Given the description of an element on the screen output the (x, y) to click on. 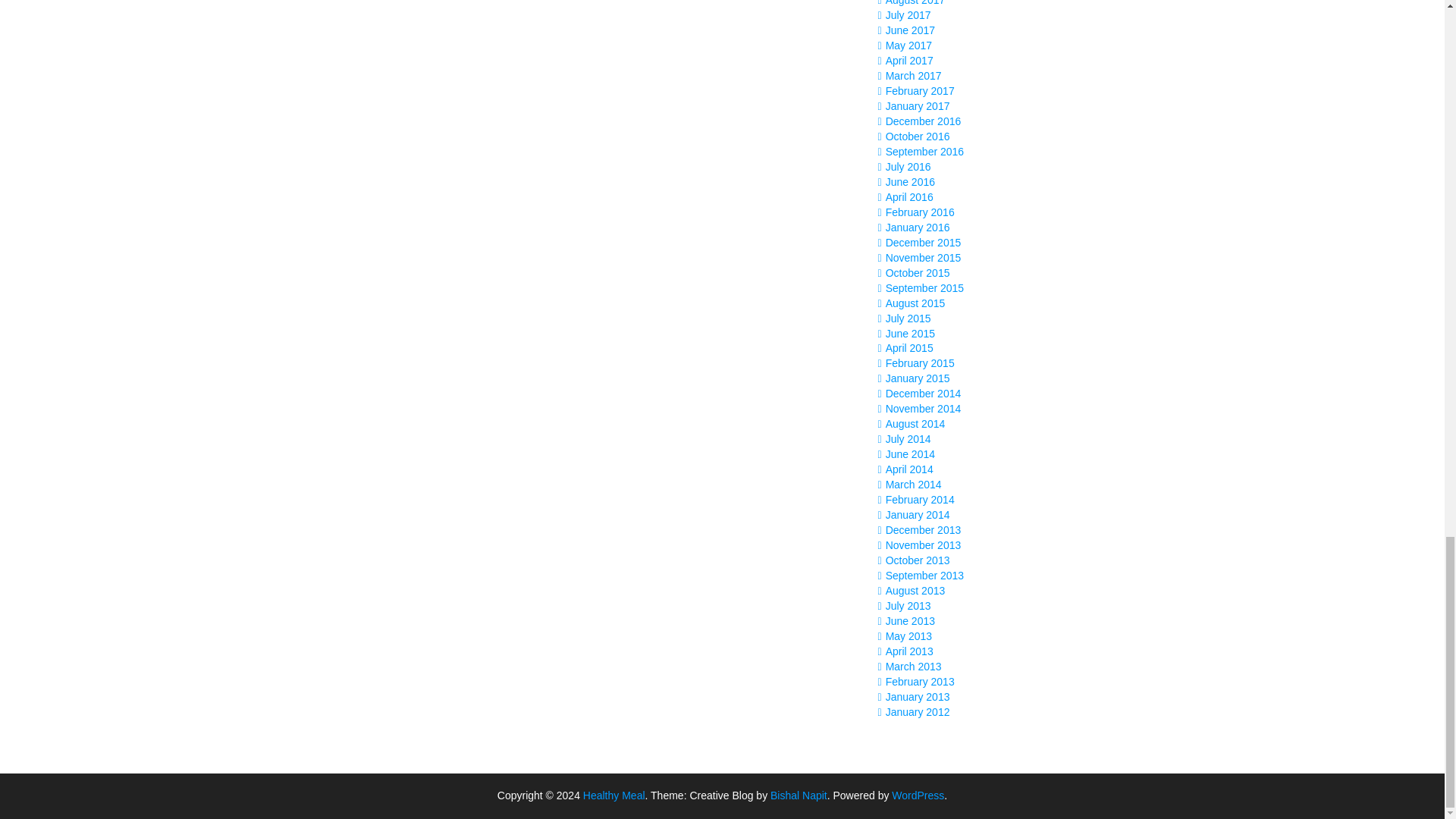
Healthy Meal (614, 795)
Bishal Napit (798, 795)
WordPress (917, 795)
